Given the description of an element on the screen output the (x, y) to click on. 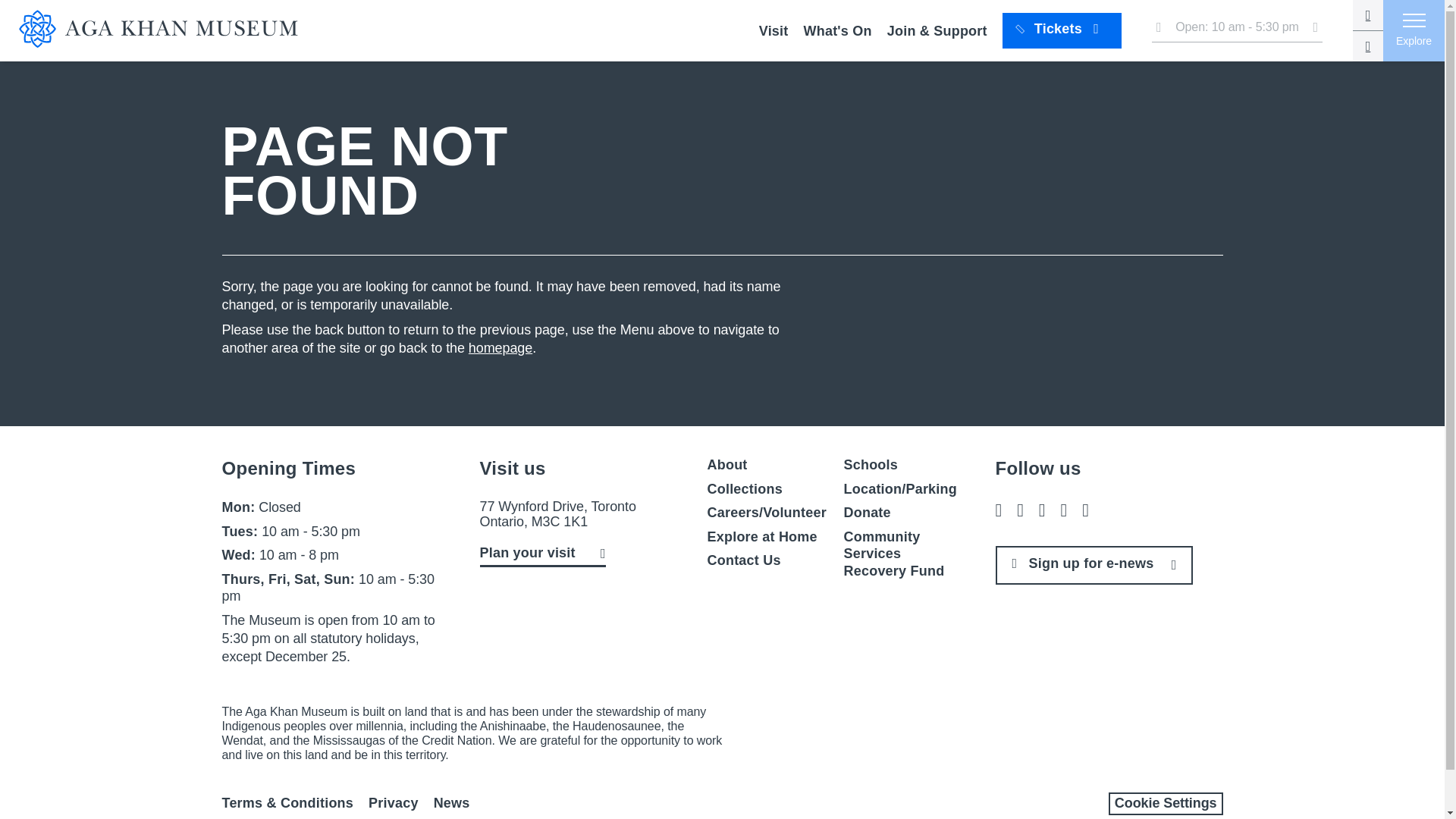
Account (1367, 15)
homepage (500, 347)
Visit (773, 29)
What's On (837, 29)
Cart (1367, 46)
Aga Khan Museum (166, 31)
Aga Khan Museum - Home (166, 31)
Open: 10 am - 5:30 pm (1236, 30)
